Given the description of an element on the screen output the (x, y) to click on. 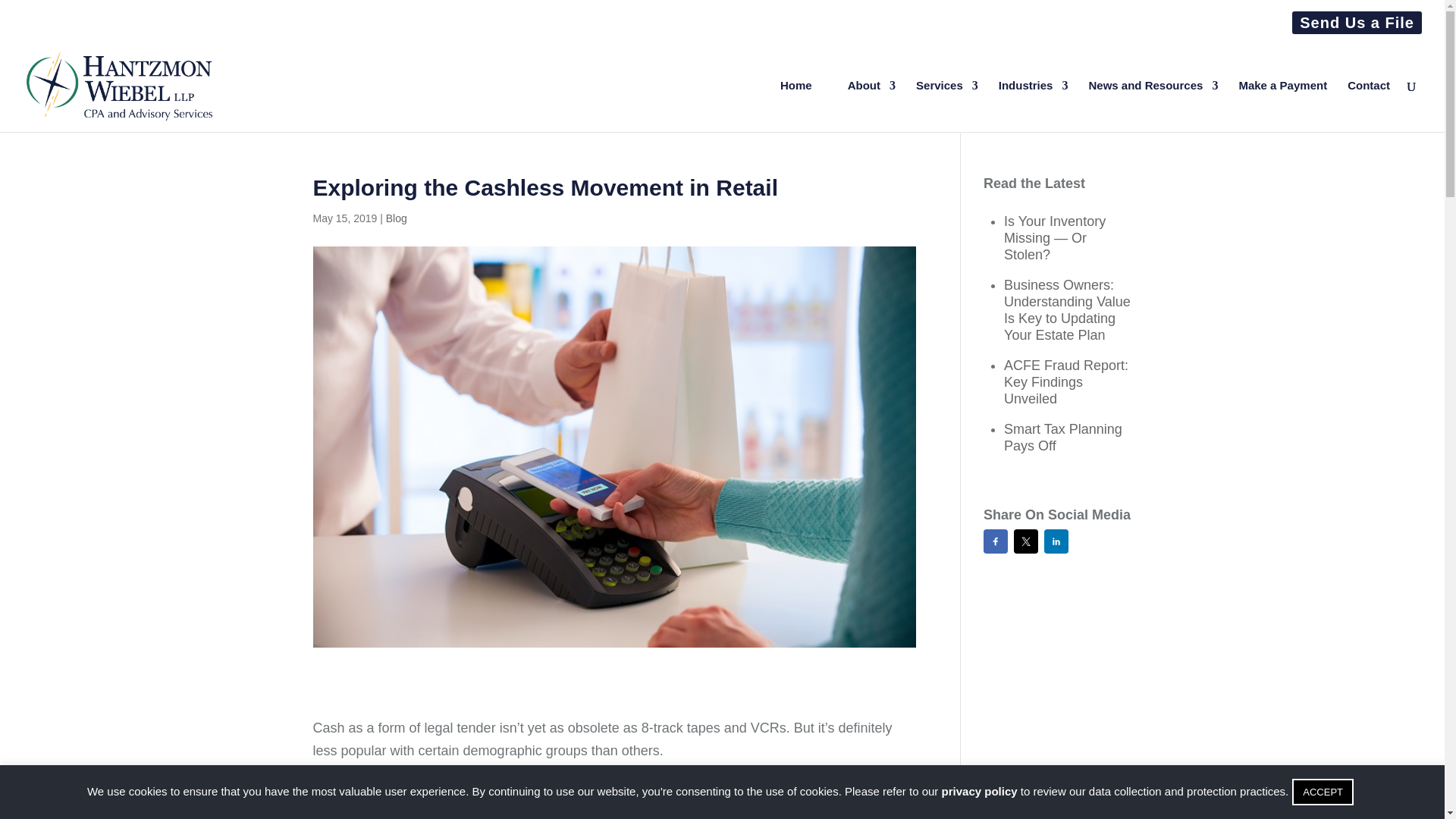
Send Us a File (1357, 28)
About (871, 105)
About Us (871, 105)
Industries Served (1033, 105)
